Given the description of an element on the screen output the (x, y) to click on. 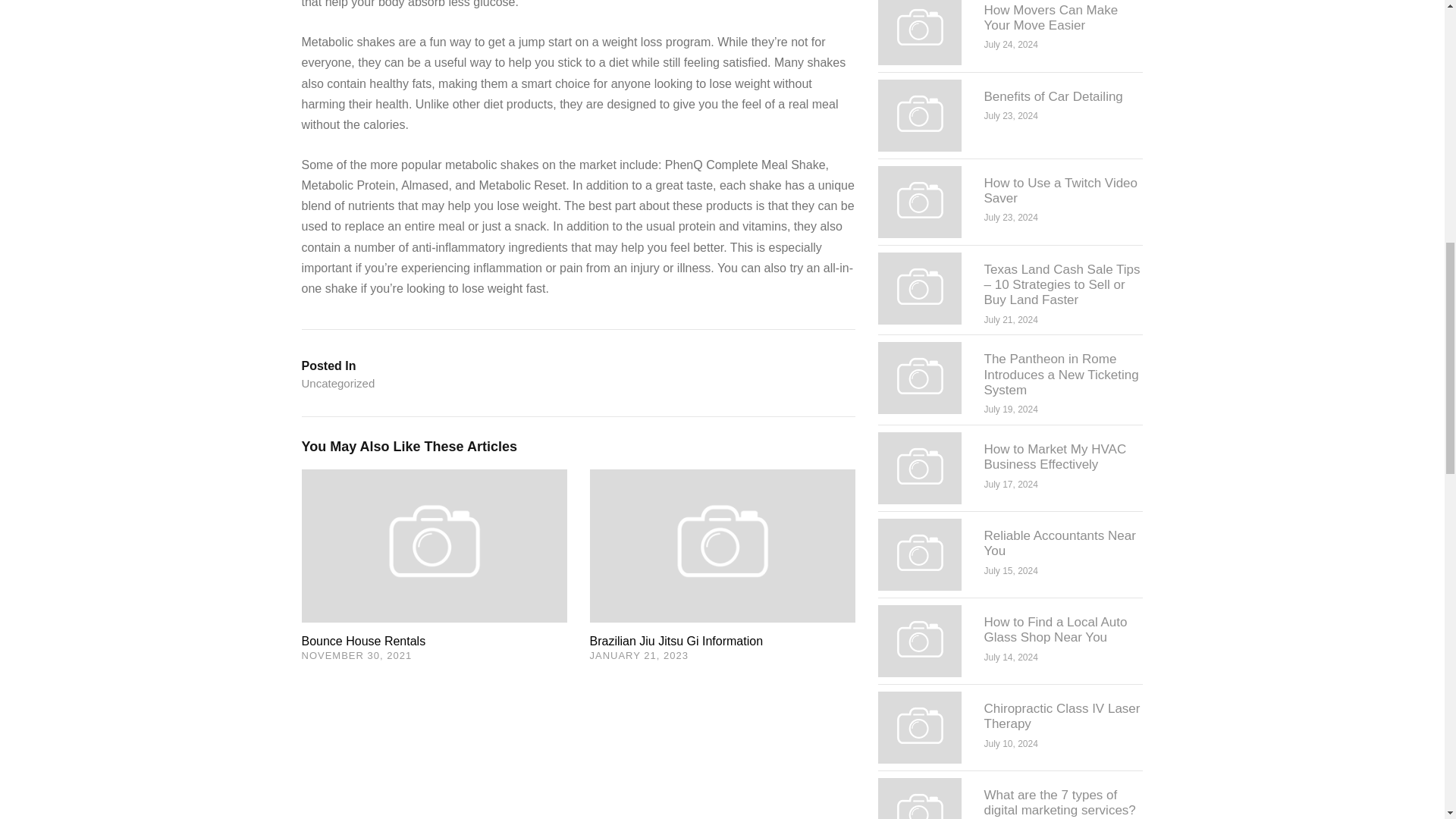
How Movers Can Make Your Move Easier (918, 27)
Uncategorized (338, 383)
The Pantheon in Rome Introduces a New Ticketing System (1061, 374)
Brazilian Jiu Jitsu Gi Information (675, 640)
Bounce House Rentals (363, 640)
How to Market My HVAC Business Effectively (1055, 456)
Reliable Accountants Near You (1059, 542)
Benefits of Car Detailing (1053, 96)
Bounce House Rentals (434, 544)
Brazilian Jiu Jitsu Gi Information (675, 640)
Bounce House Rentals (363, 640)
How Movers Can Make Your Move Easier (1051, 17)
Brazilian Jiu Jitsu Gi Information (722, 544)
How to Use a Twitch Video Saver (1061, 190)
